Given the description of an element on the screen output the (x, y) to click on. 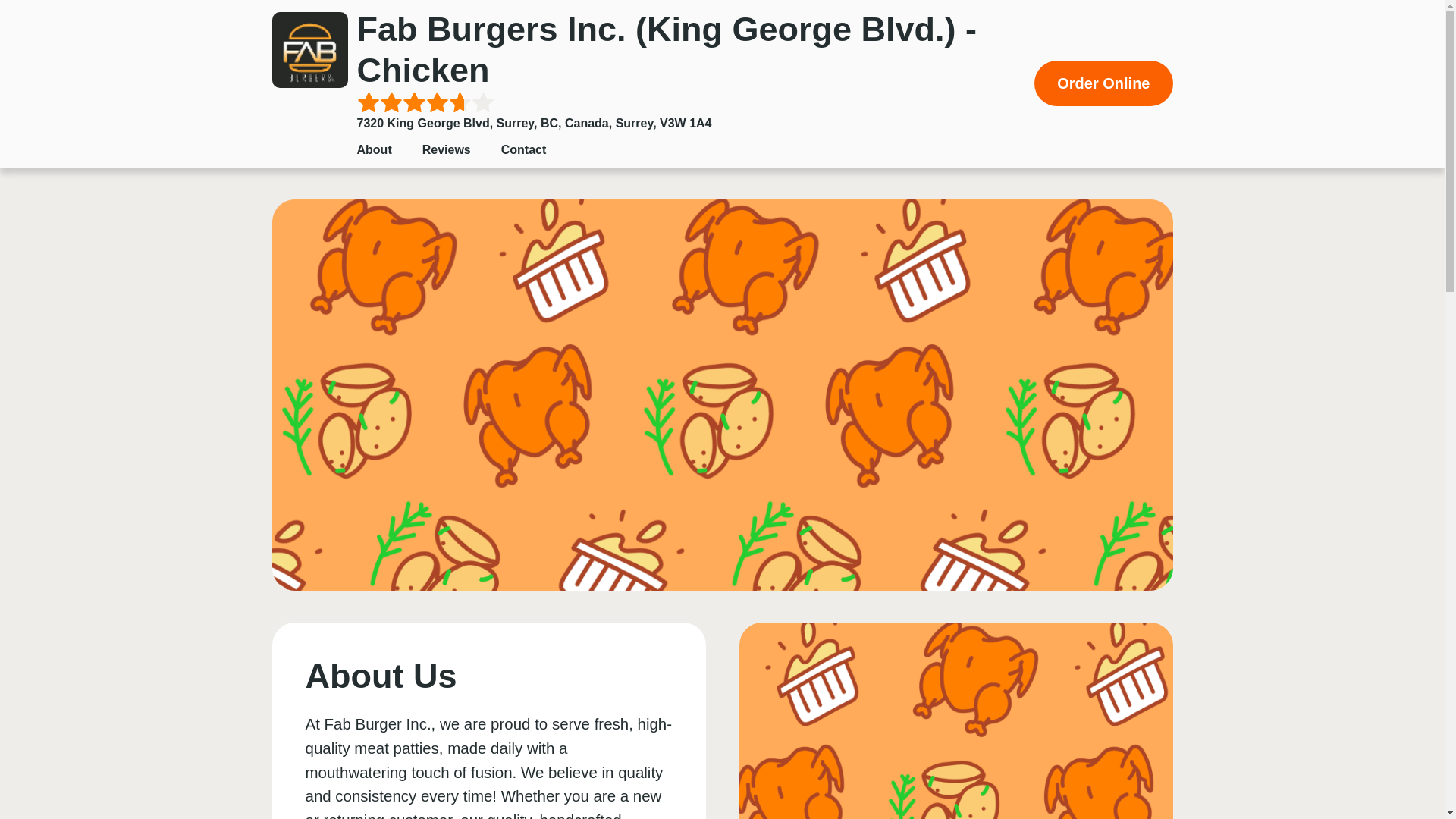
Contact (523, 149)
Reviews (446, 149)
About (373, 149)
Order Online (1102, 83)
